Given the description of an element on the screen output the (x, y) to click on. 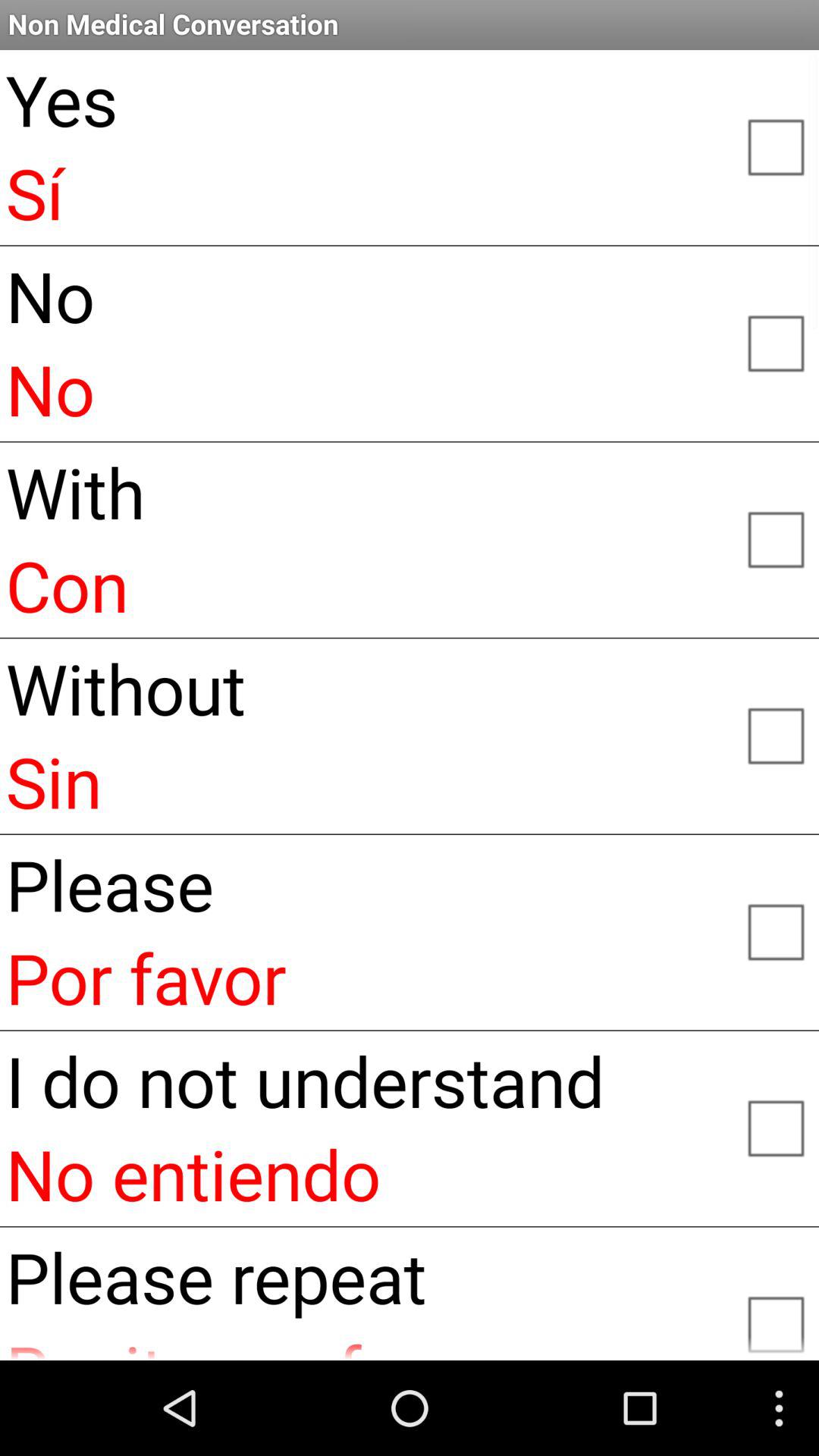
select please repeat option (775, 1317)
